Given the description of an element on the screen output the (x, y) to click on. 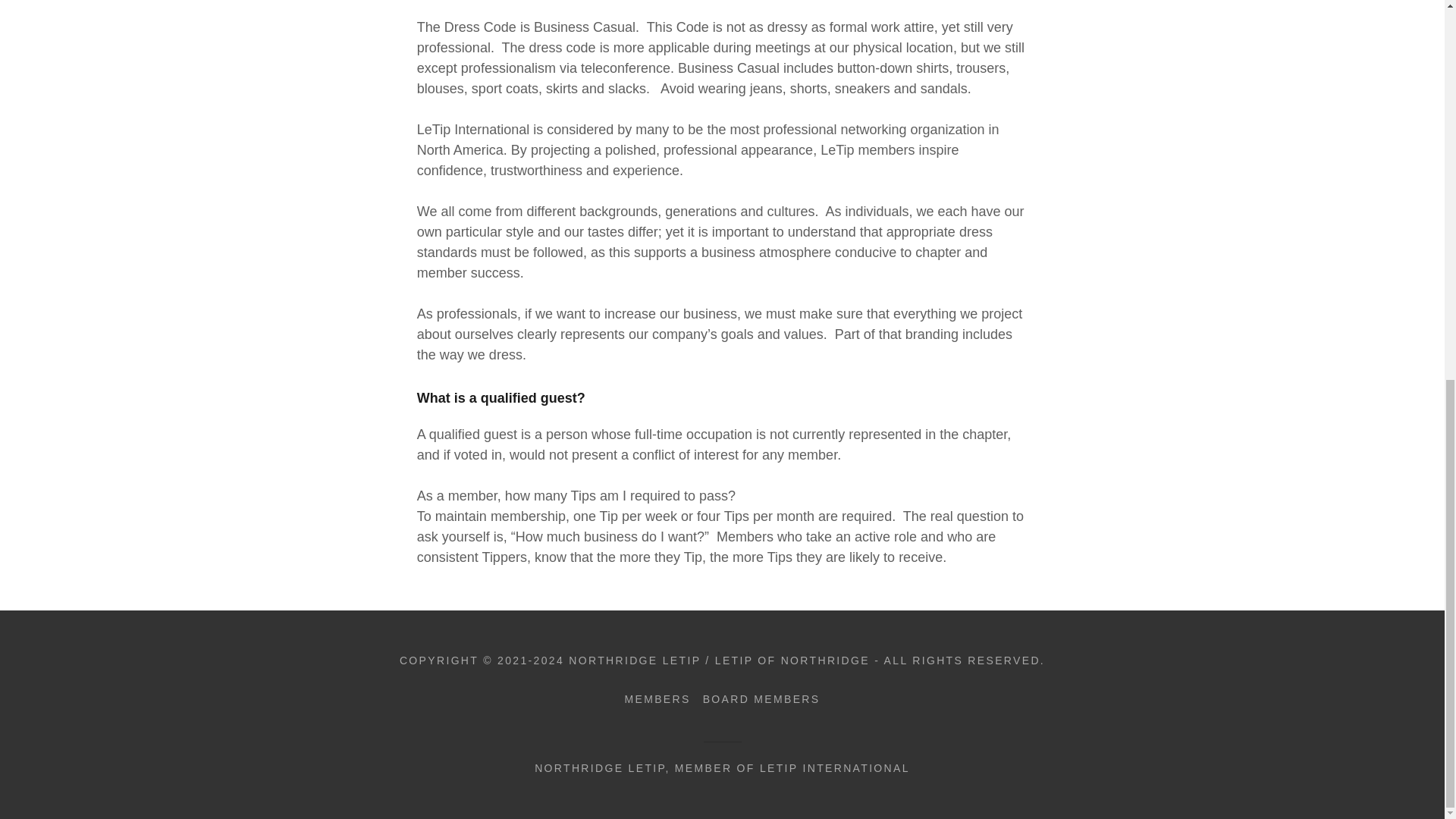
BOARD MEMBERS (762, 699)
MEMBERS (656, 699)
